Given the description of an element on the screen output the (x, y) to click on. 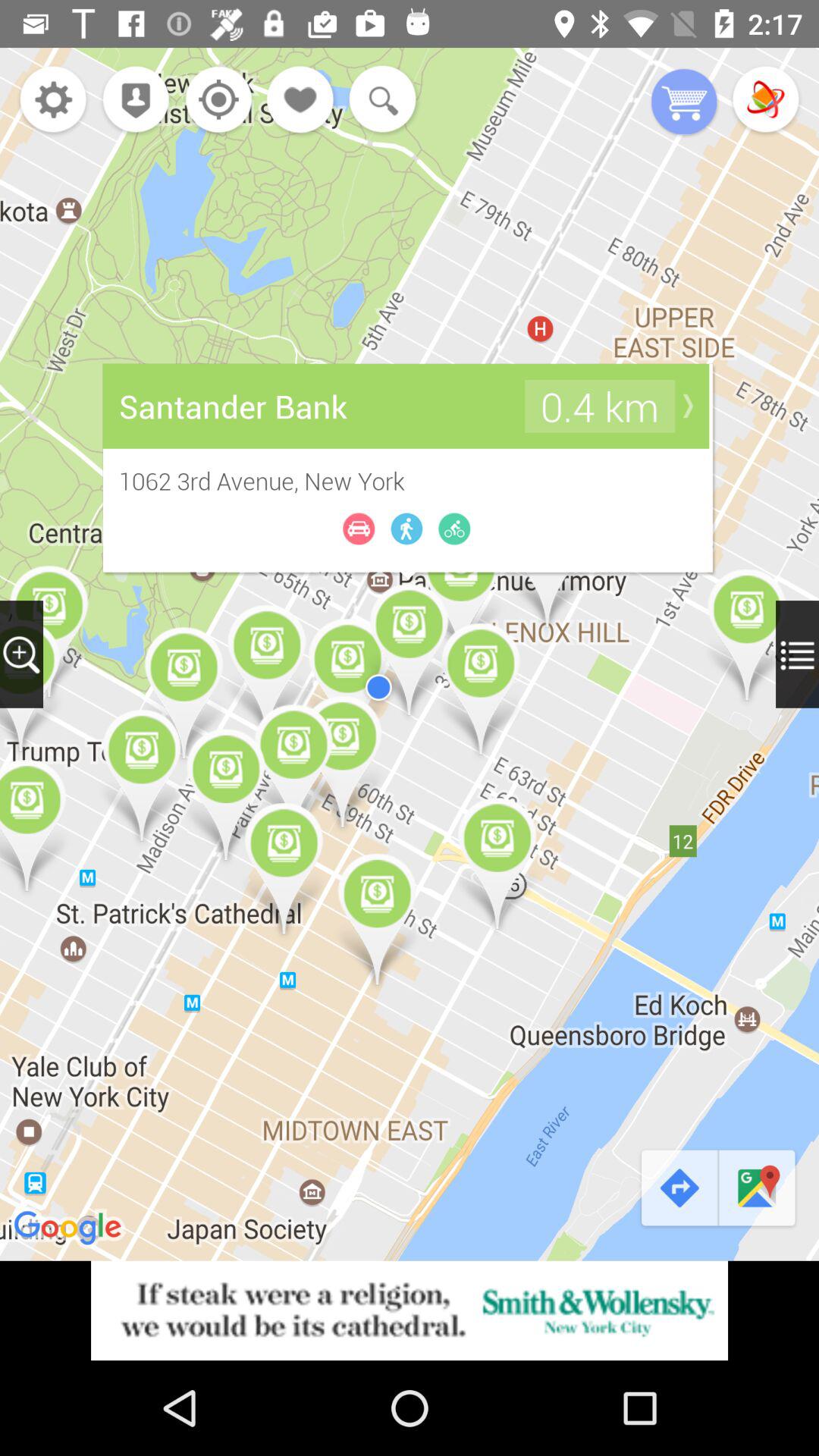
search (379, 100)
